Given the description of an element on the screen output the (x, y) to click on. 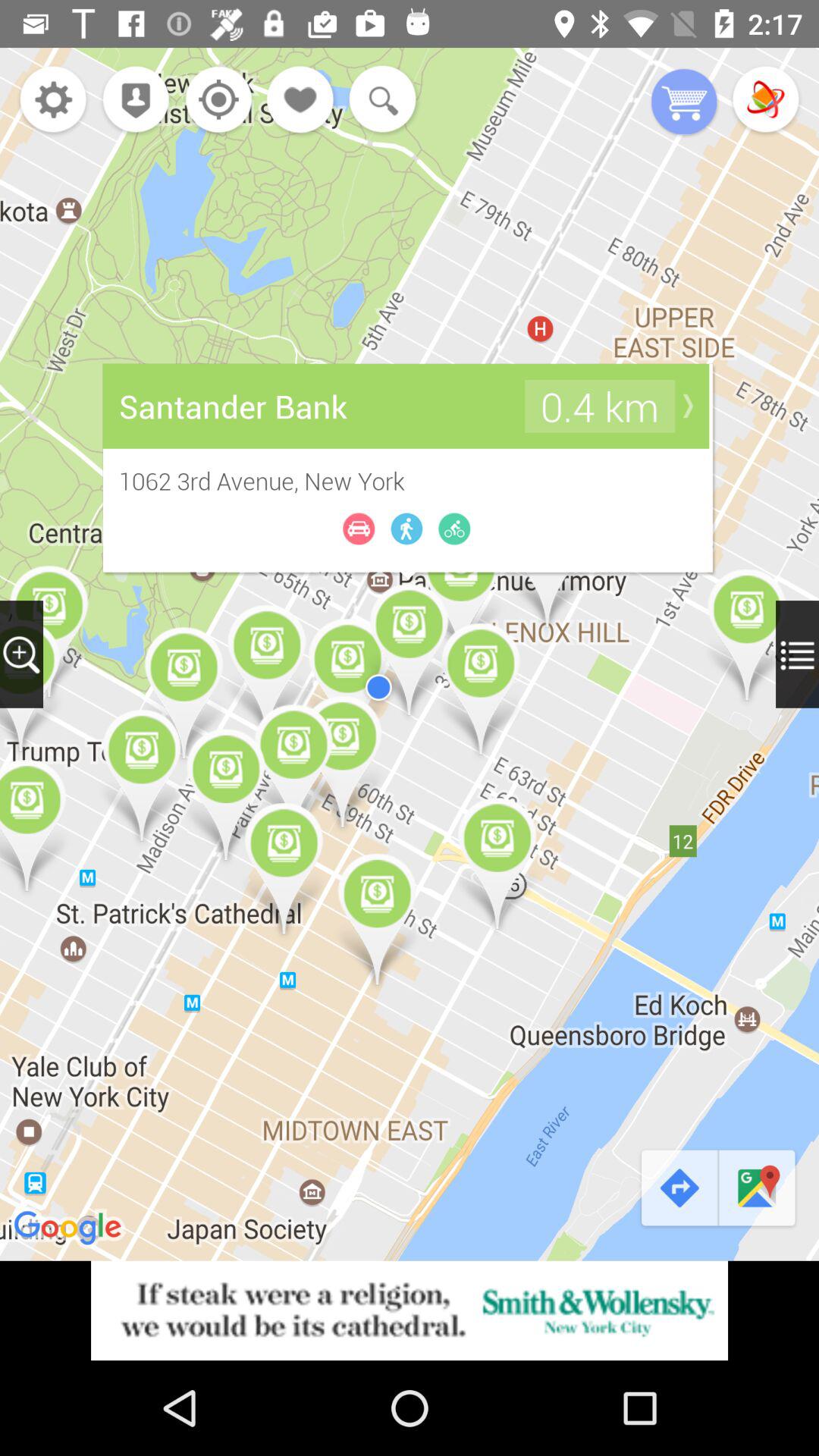
search (379, 100)
